Given the description of an element on the screen output the (x, y) to click on. 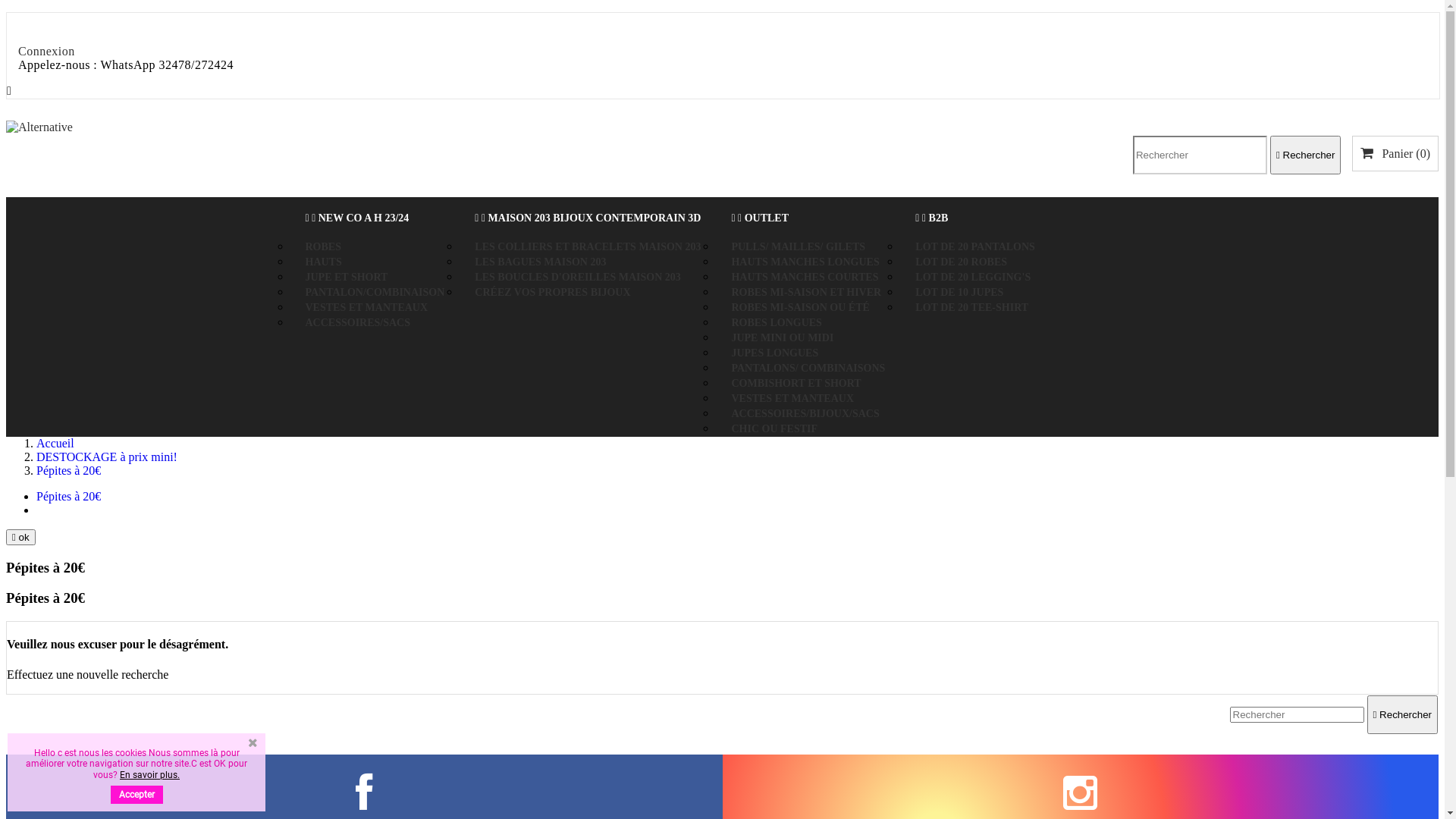
LOT DE 20 PANTALONS Element type: text (975, 246)
LOT DE 20 TEE-SHIRT Element type: text (971, 307)
LOT DE 20 LEGGING'S Element type: text (972, 276)
Accueil Element type: text (55, 442)
Accepter Element type: text (136, 794)
LOT DE 10 JUPES Element type: text (959, 292)
HAUTS Element type: text (322, 261)
PANTALON/COMBINAISON Element type: text (374, 292)
En savoir plus. Element type: text (149, 774)
COMBISHORT ET SHORT Element type: text (795, 383)
JUPE MINI OU MIDI Element type: text (781, 337)
HAUTS MANCHES LONGUES Element type: text (804, 261)
ROBES LONGUES Element type: text (775, 322)
PANTALONS/ COMBINAISONS Element type: text (807, 367)
JUPE ET SHORT Element type: text (345, 276)
LES BAGUES MAISON 203 Element type: text (540, 261)
LOT DE 20 ROBES Element type: text (961, 261)
ACCESSOIRES/BIJOUX/SACS Element type: text (804, 413)
ACCESSOIRES/SACS Element type: text (357, 322)
LES COLLIERS ET BRACELETS MAISON 203 Element type: text (587, 246)
ROBES MI-SAISON ET HIVER Element type: text (805, 292)
CHIC OU FESTIF Element type: text (773, 428)
JUPES LONGUES Element type: text (774, 352)
PULLS/ MAILLES/ GILETS Element type: text (797, 246)
VESTES ET MANTEAUX Element type: text (365, 307)
HAUTS MANCHES COURTES Element type: text (804, 276)
Connexion Element type: text (46, 50)
ROBES Element type: text (322, 246)
VESTES ET MANTEAUX Element type: text (792, 398)
LES BOUCLES D'OREILLES MAISON 203 Element type: text (577, 276)
